Given the description of an element on the screen output the (x, y) to click on. 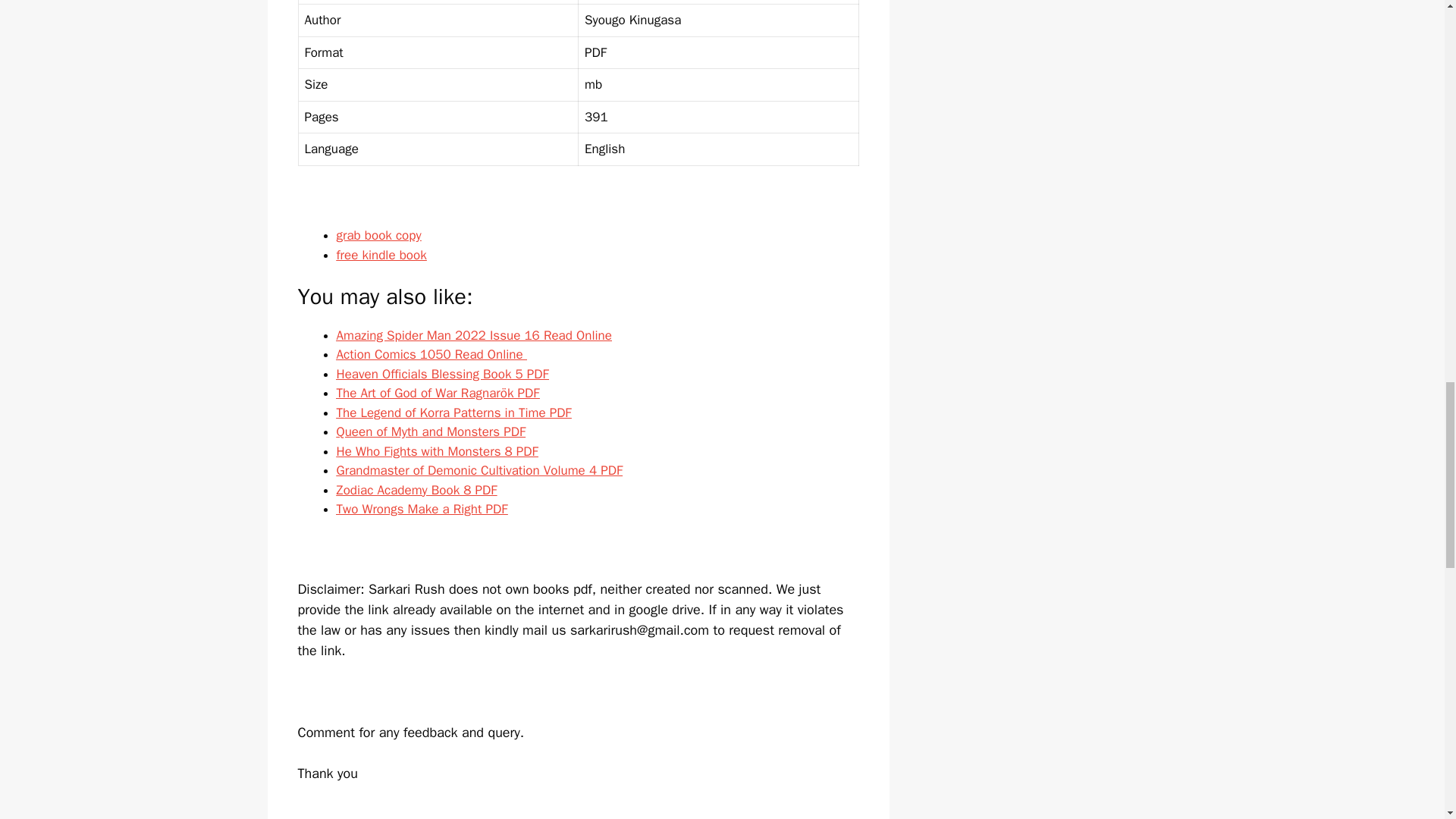
The Legend of Korra Patterns in Time PDF (454, 412)
Grandmaster of Demonic Cultivation Volume 4 PDF (479, 470)
Zodiac Academy Book 8 PDF (416, 489)
free kindle book (381, 254)
grab book copy (379, 235)
Queen of Myth and Monsters PDF (430, 431)
Two Wrongs Make a Right PDF (422, 508)
Action Comics 1050 Read Online  (431, 354)
Heaven Officials Blessing Book 5 PDF (442, 373)
He Who Fights with Monsters 8 PDF (437, 450)
Amazing Spider Man 2022 Issue 16 Read Online (473, 335)
